Given the description of an element on the screen output the (x, y) to click on. 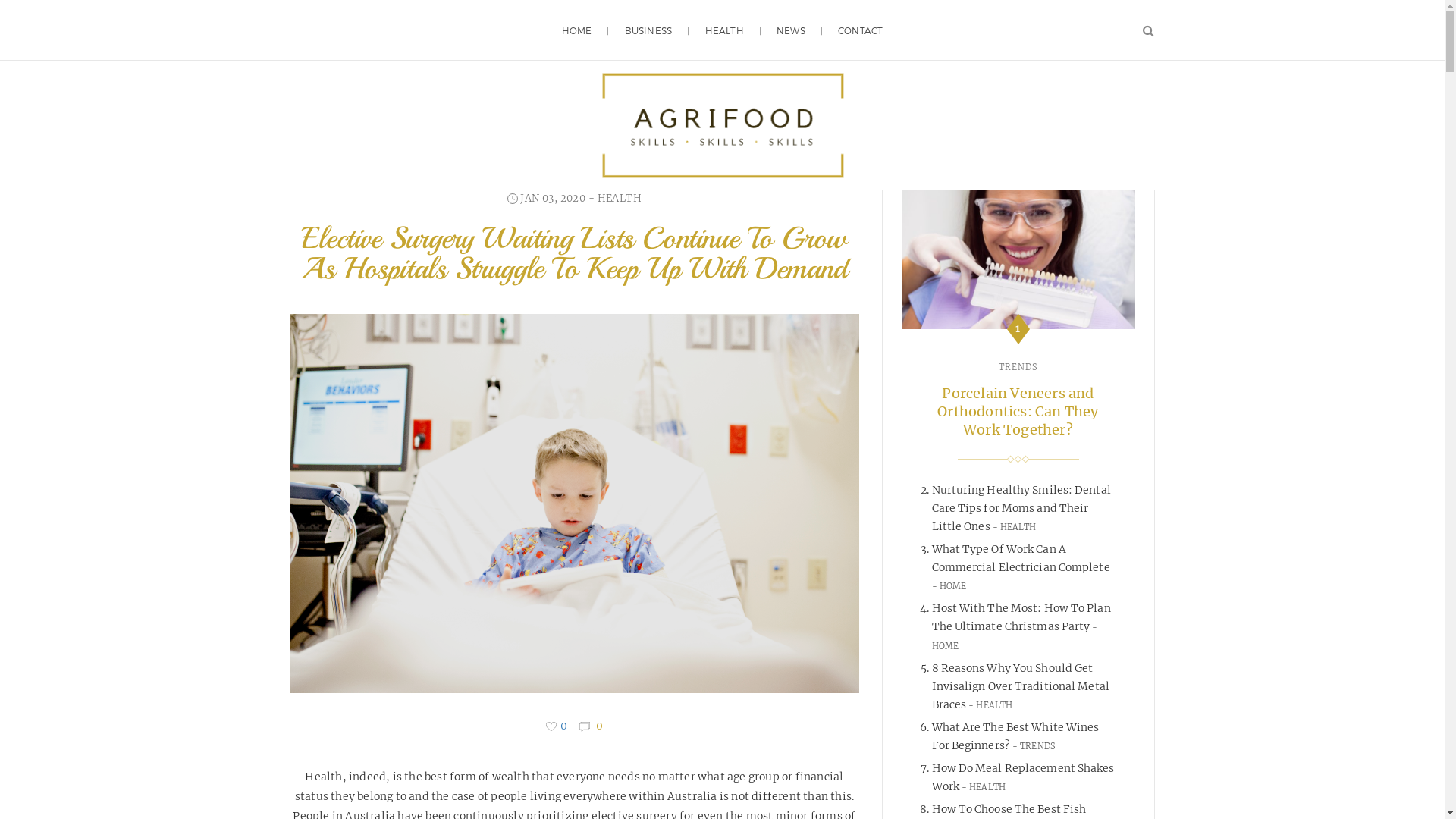
What Type Of Work Can A Commercial Electrician Complete Element type: text (1020, 558)
NEWS Element type: text (790, 30)
HOME Element type: text (1014, 636)
Agrifood Skills Element type: text (721, 125)
BUSINESS Element type: text (648, 30)
HEALTH Element type: text (1014, 526)
Host With The Most: How To Plan The Ultimate Christmas Party Element type: text (1020, 617)
HEALTH Element type: text (724, 30)
HOME Element type: text (948, 585)
HOME Element type: text (576, 30)
HEALTH Element type: text (990, 704)
TRENDS Element type: text (1017, 366)
What Are The Best White Wines For Beginners? Element type: text (1014, 736)
How Do Meal Replacement Shakes Work Element type: text (1022, 777)
0 Element type: text (556, 725)
CONTACT Element type: text (859, 30)
TRENDS Element type: text (1033, 745)
Porcelain Veneers and Orthodontics: Can They Work Together? Element type: text (1017, 411)
HEALTH Element type: text (983, 786)
HEALTH Element type: text (619, 197)
